Given the description of an element on the screen output the (x, y) to click on. 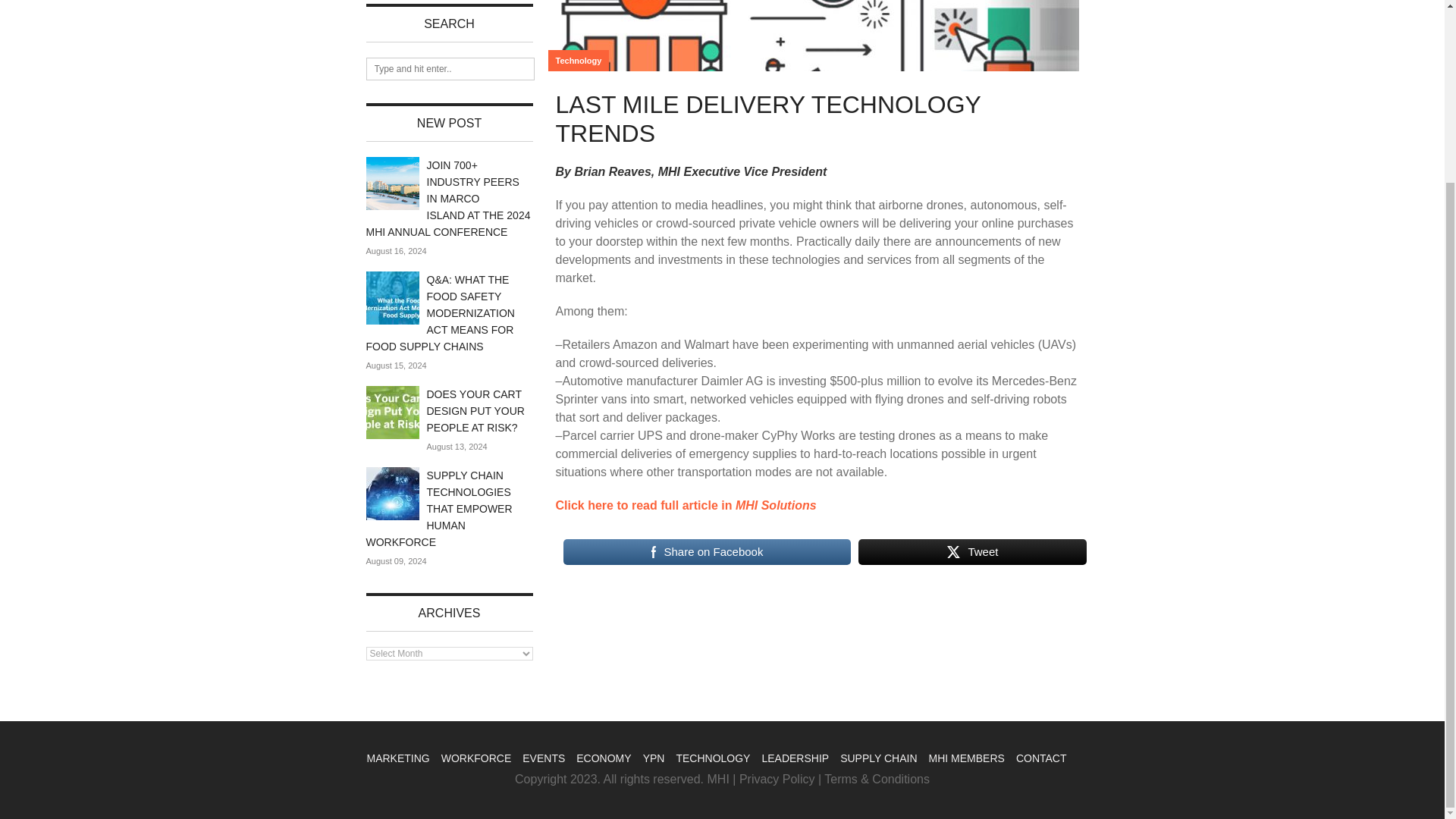
DOES YOUR CART DESIGN PUT YOUR PEOPLE AT RISK? (475, 411)
Type and hit enter.. (449, 68)
EVENTS (543, 757)
SUPPLY CHAIN (878, 757)
Supply Chain Technologies that Empower Human Workforce (438, 508)
YPN (654, 757)
Privacy Policy (777, 779)
Click here to read full article in MHI Solutions (684, 504)
Technology (577, 60)
